Given the description of an element on the screen output the (x, y) to click on. 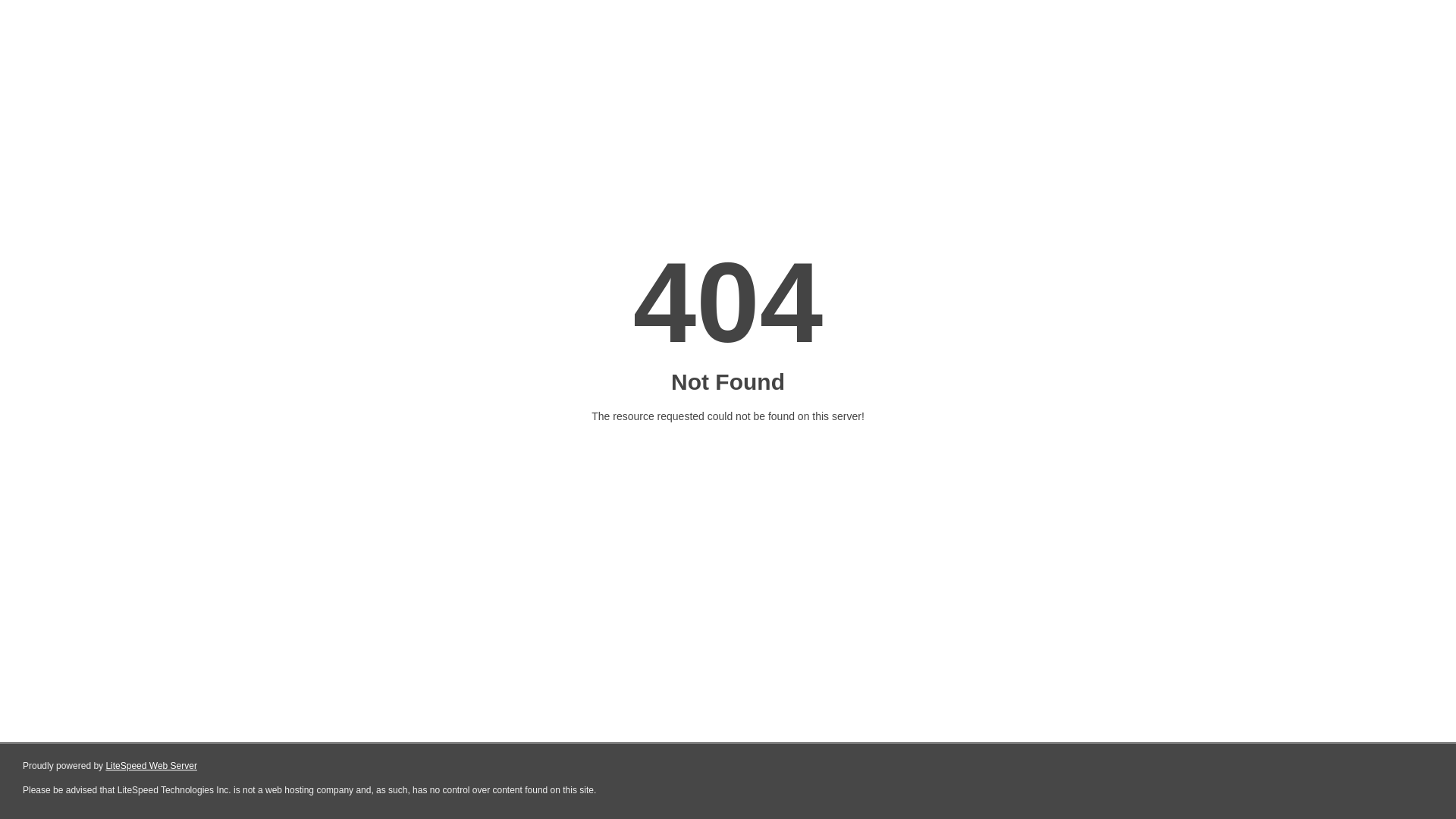
LiteSpeed Web Server (150, 765)
